Given the description of an element on the screen output the (x, y) to click on. 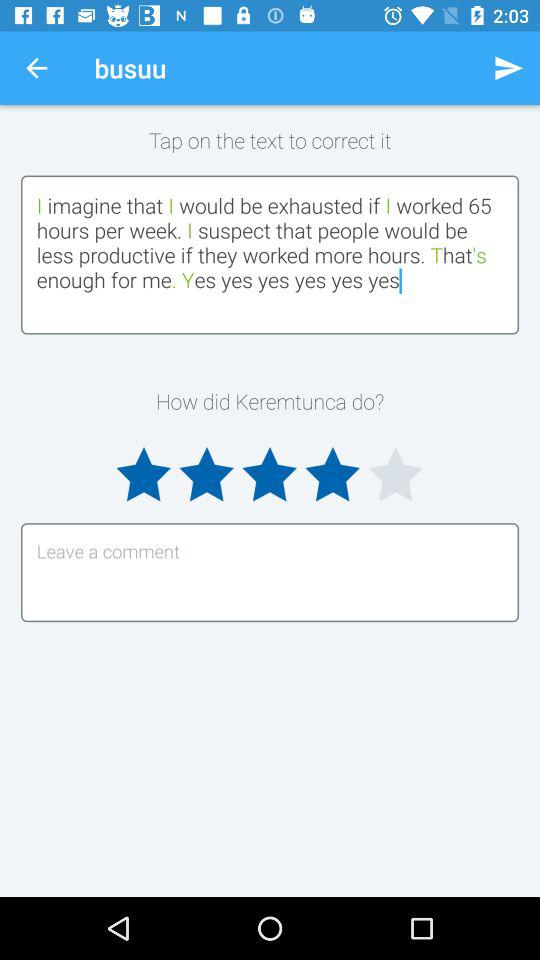
launch the item above tap on the icon (508, 67)
